Given the description of an element on the screen output the (x, y) to click on. 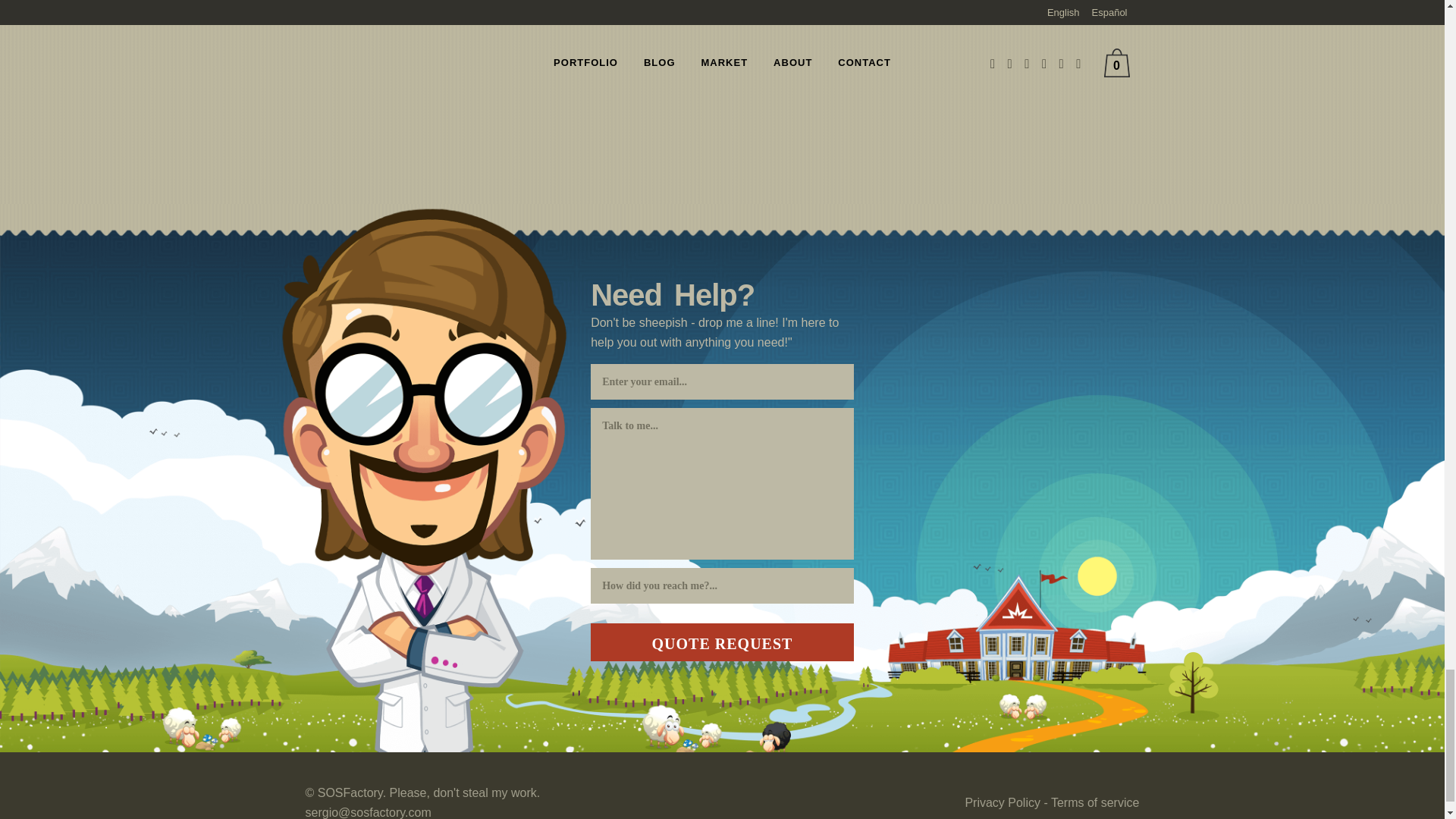
Quote Request (722, 641)
Privacy Policy (1002, 802)
Quote Request (722, 641)
Terms of service (1094, 802)
